Given the description of an element on the screen output the (x, y) to click on. 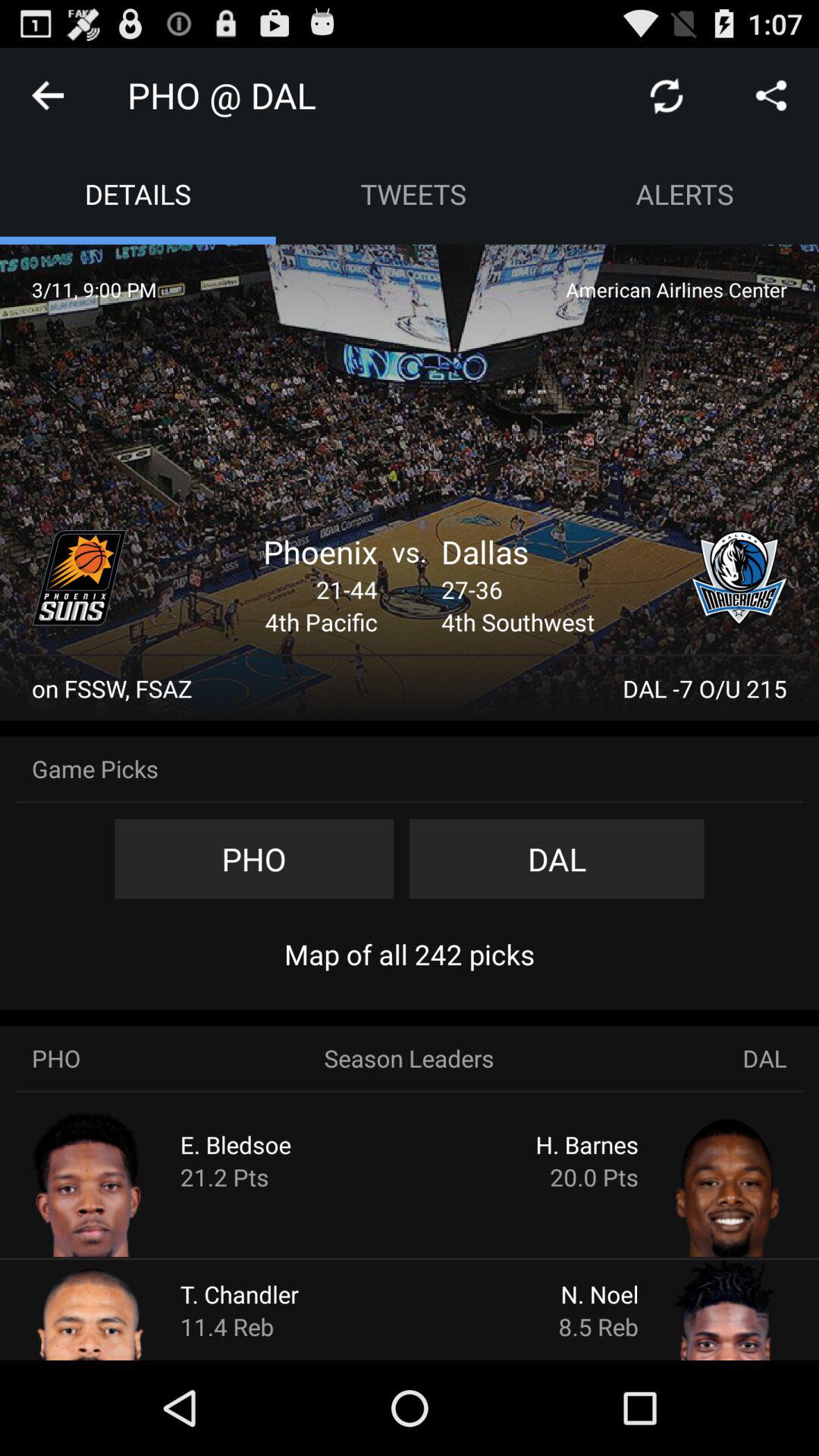
player stats (699, 1183)
